Given the description of an element on the screen output the (x, y) to click on. 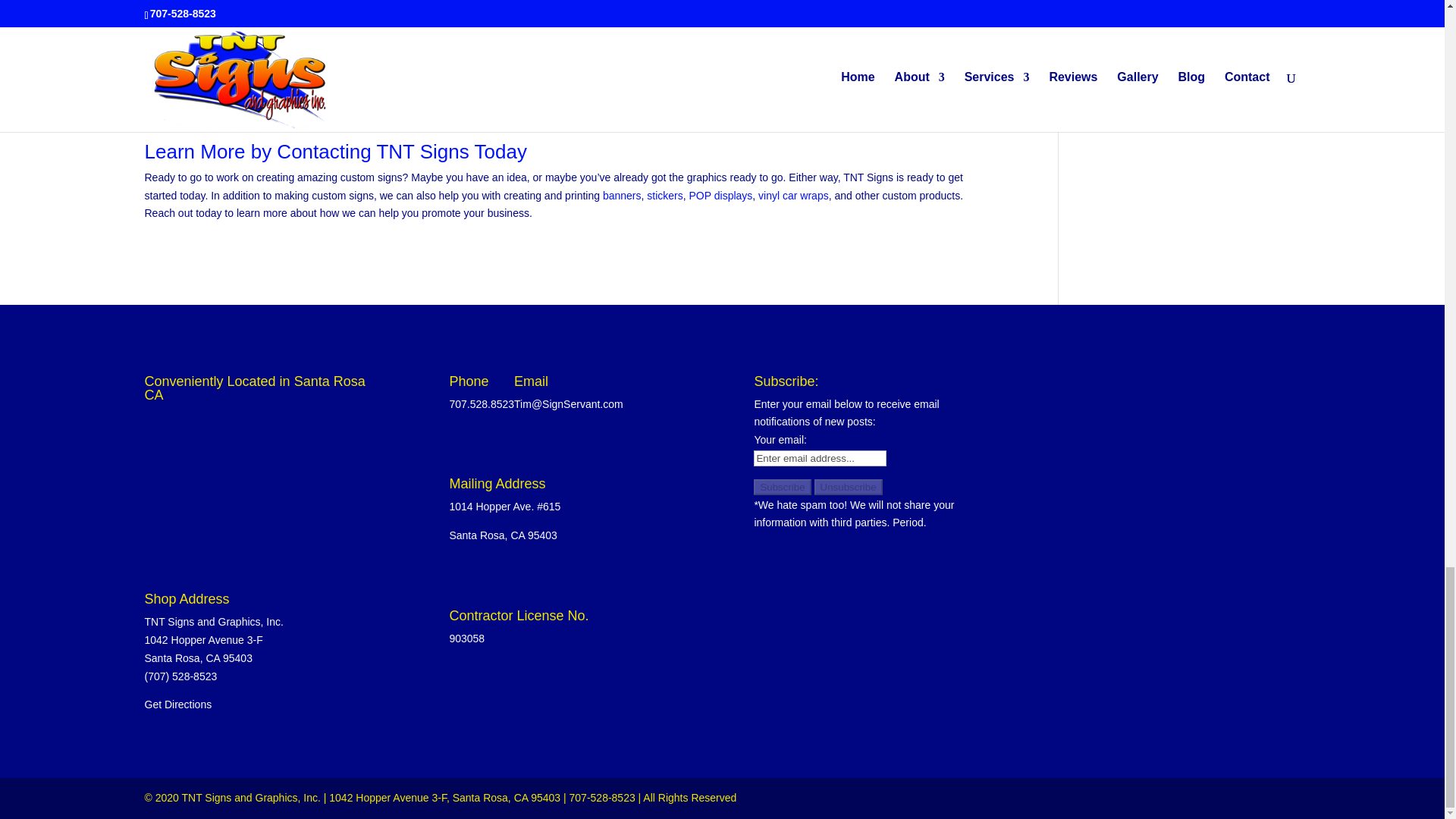
banners (622, 195)
stickers (664, 195)
POP displays (720, 195)
Subscribe (782, 487)
Enter email address... (820, 458)
Unsubscribe (847, 487)
vinyl car wraps (793, 195)
